Given the description of an element on the screen output the (x, y) to click on. 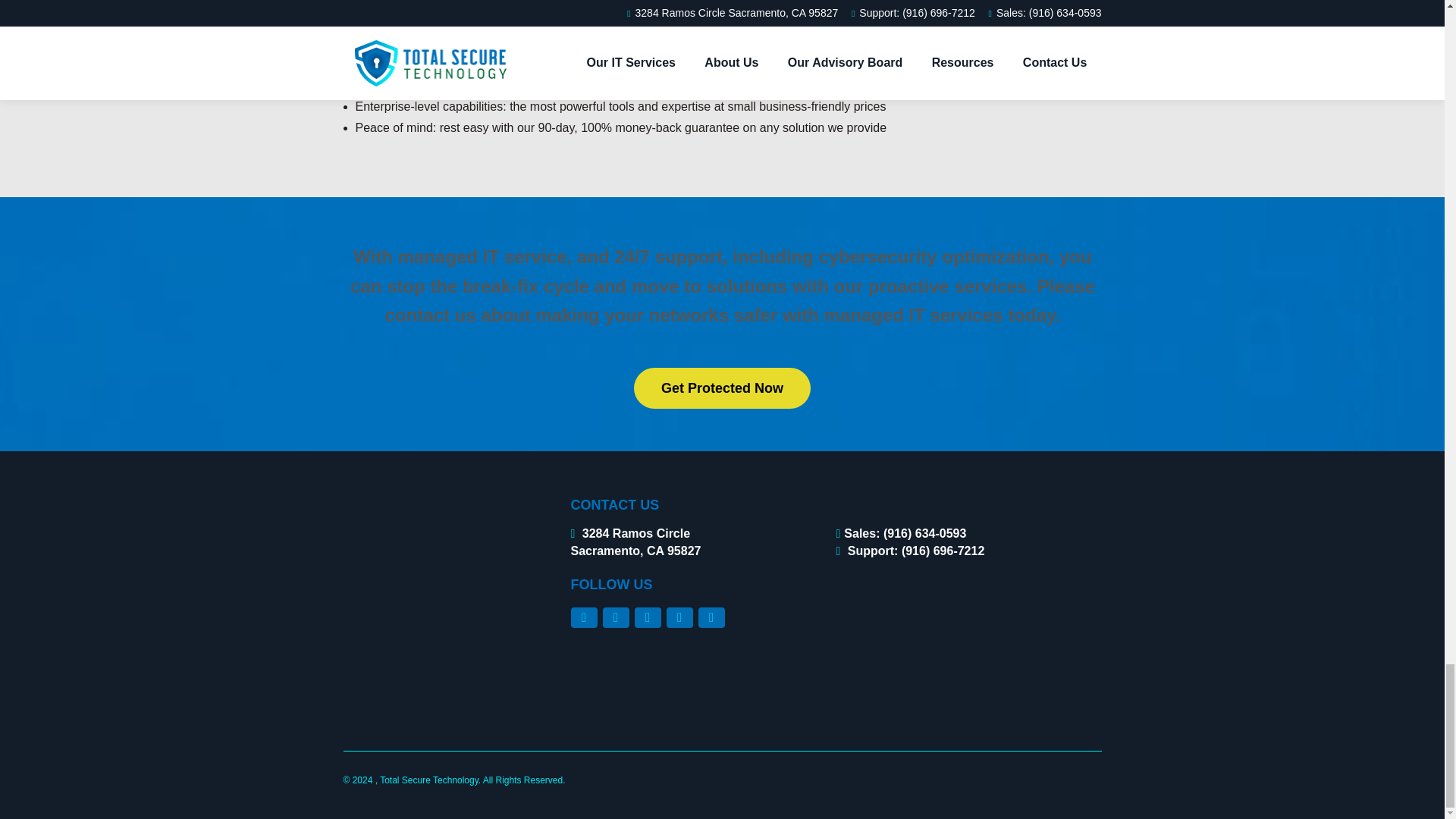
Get Protected Now (721, 387)
